Given the description of an element on the screen output the (x, y) to click on. 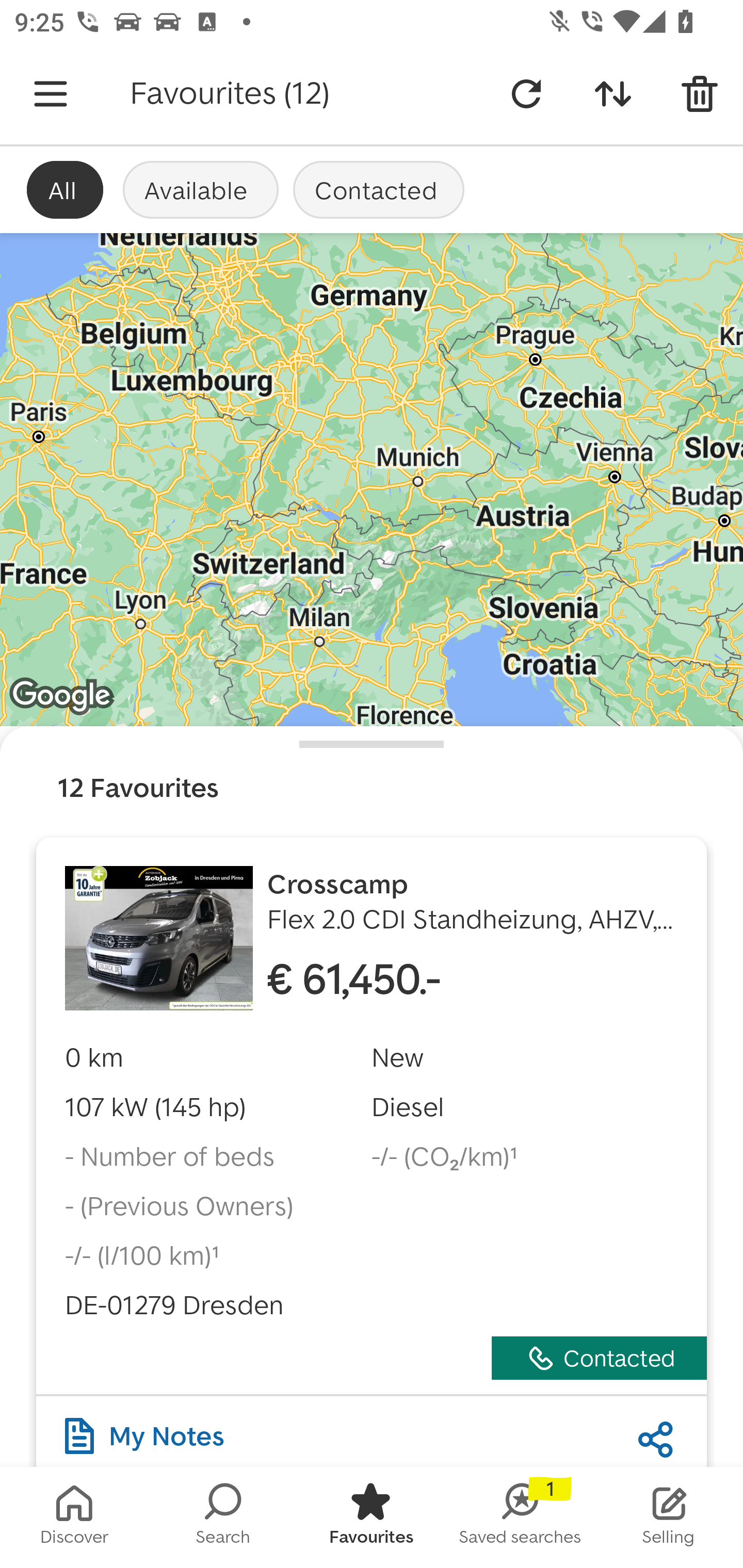
Navigate up (50, 93)
Sort (612, 93)
Delete vehicles (699, 93)
All (64, 189)
Available (200, 189)
Contacted (378, 189)
Google Map (371, 479)
My Notes (144, 1431)
HOMESCREEN Discover (74, 1517)
SEARCH Search (222, 1517)
FAVORITES Favourites (371, 1517)
SAVED_SEARCHES Saved searches 1 (519, 1517)
STOCK_LIST Selling (668, 1517)
